Given the description of an element on the screen output the (x, y) to click on. 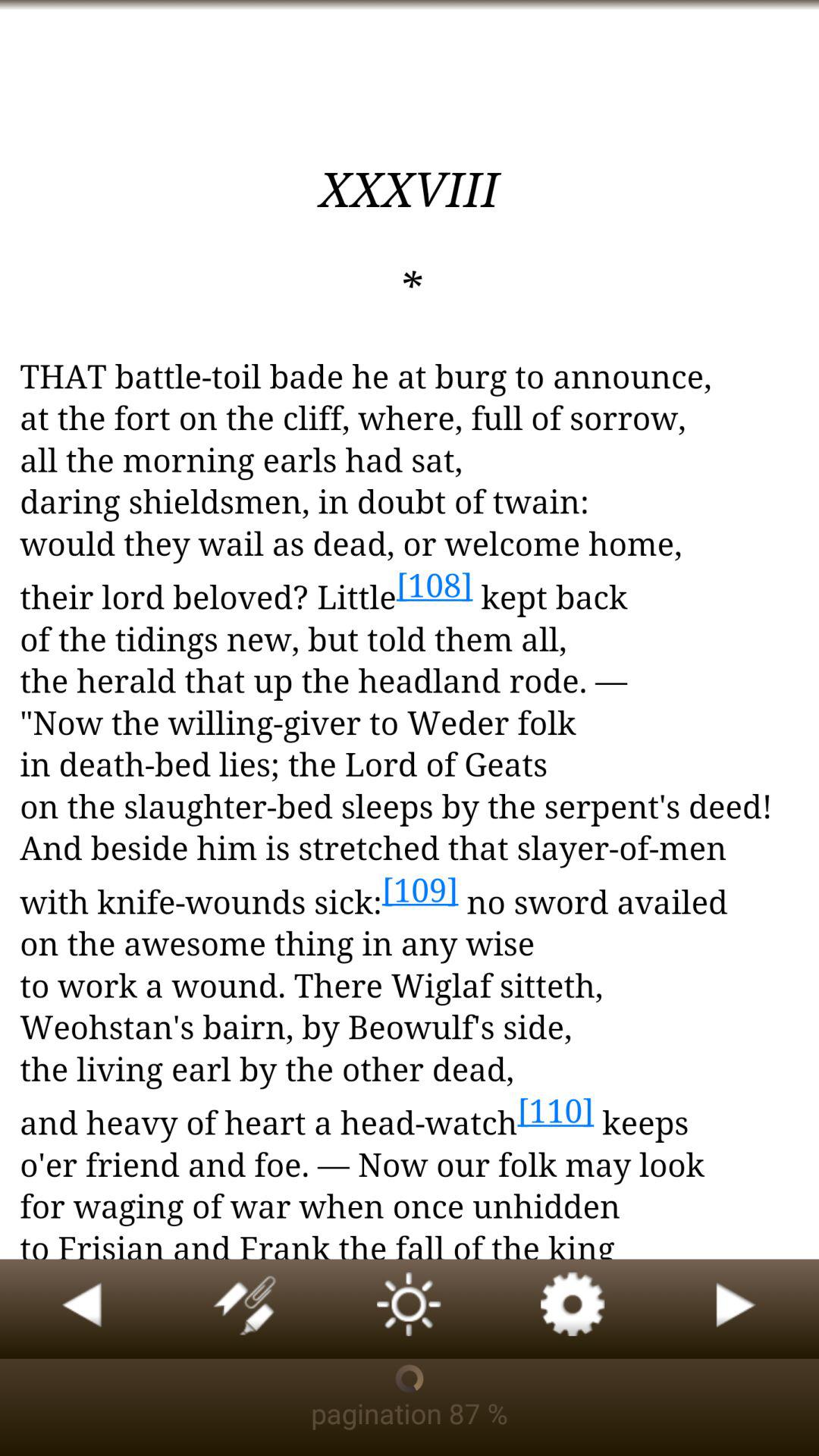
highlight or bookmark text (245, 1308)
